Given the description of an element on the screen output the (x, y) to click on. 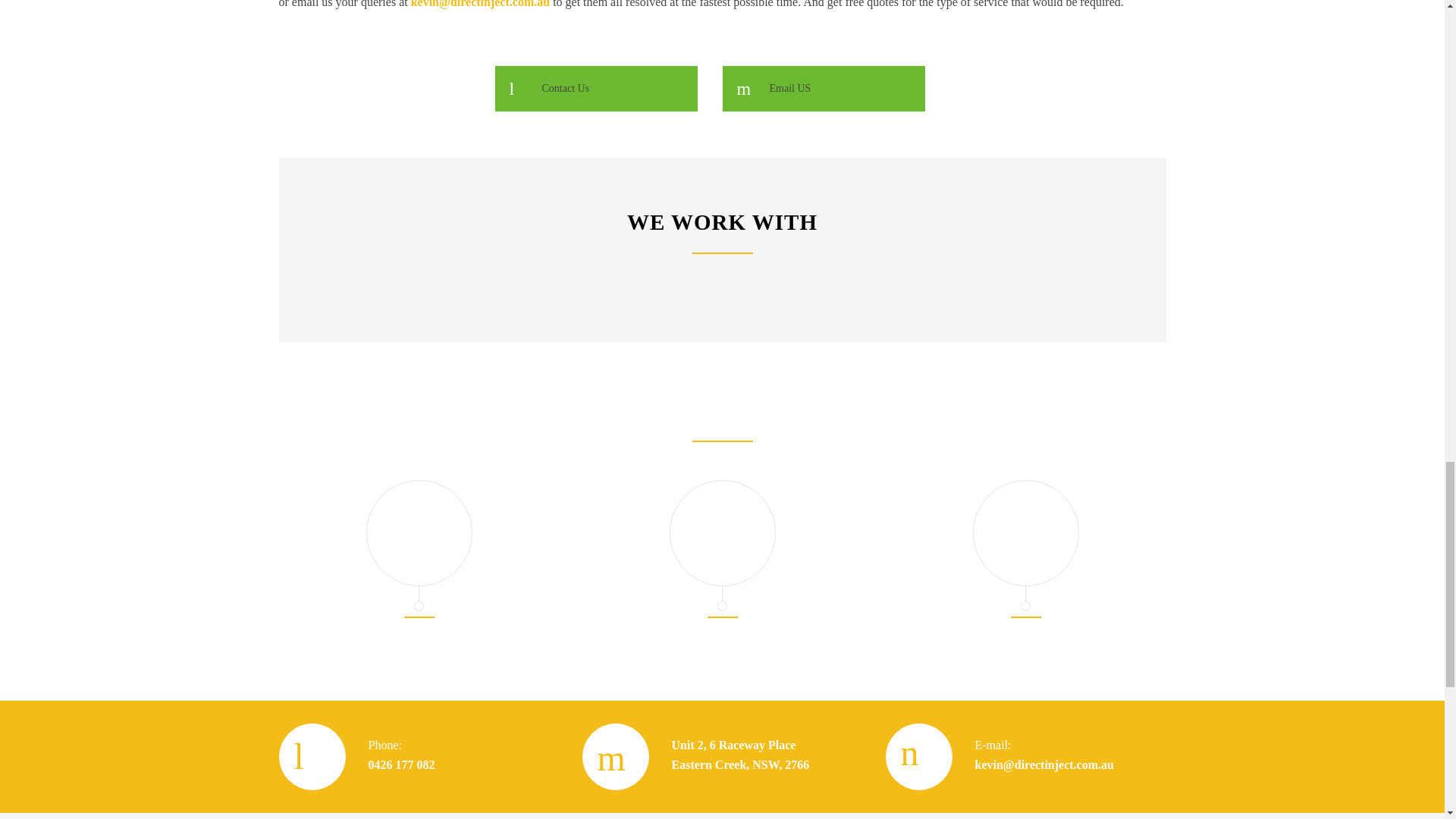
Email US (823, 87)
Email US (823, 87)
0426 177 082 (740, 754)
Contact Us (401, 764)
Contact Us (596, 87)
